Given the description of an element on the screen output the (x, y) to click on. 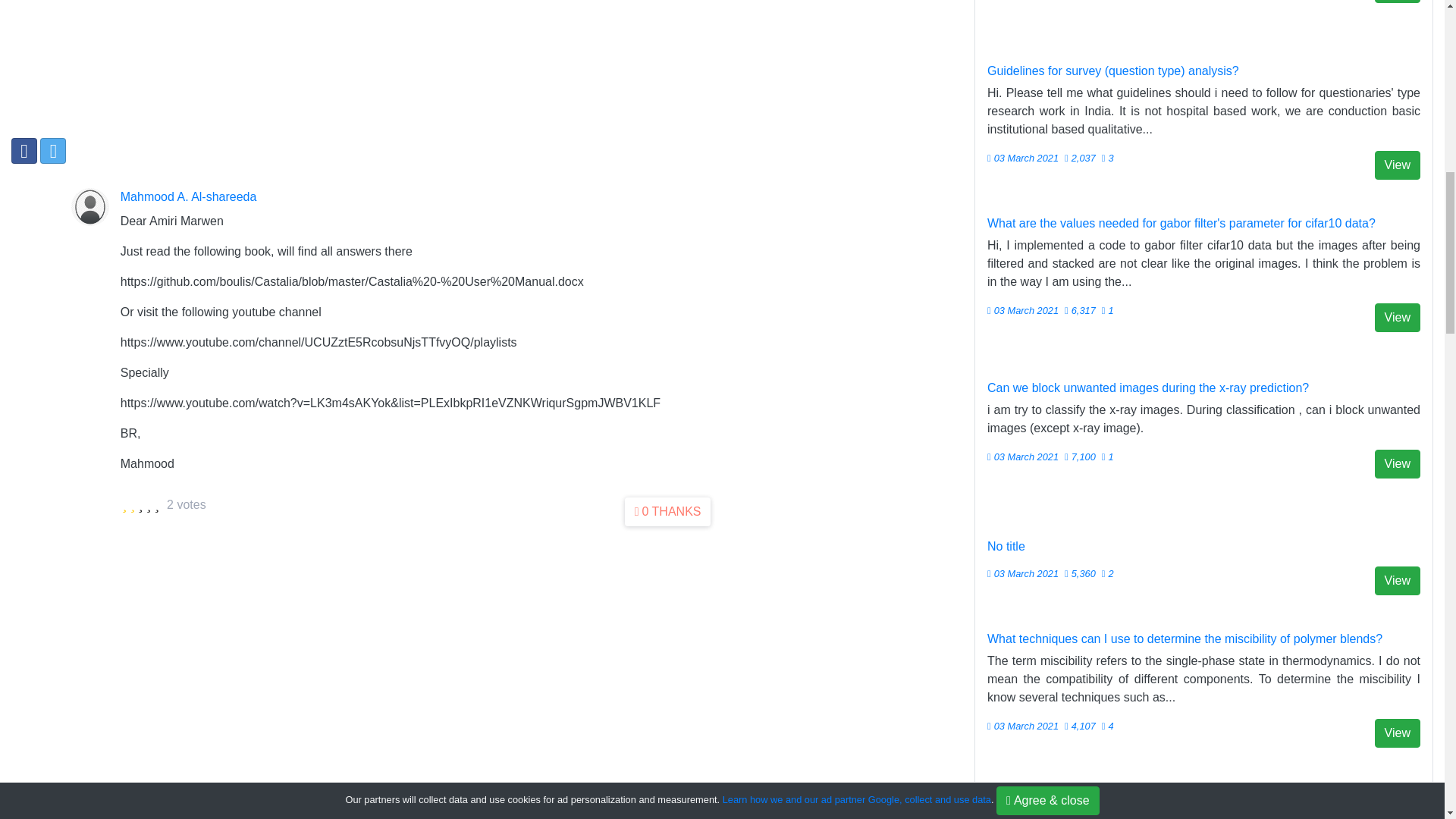
Advertisement (361, 59)
0 THANKS (667, 511)
Mahmood A. Al-shareeda (188, 197)
